Given the description of an element on the screen output the (x, y) to click on. 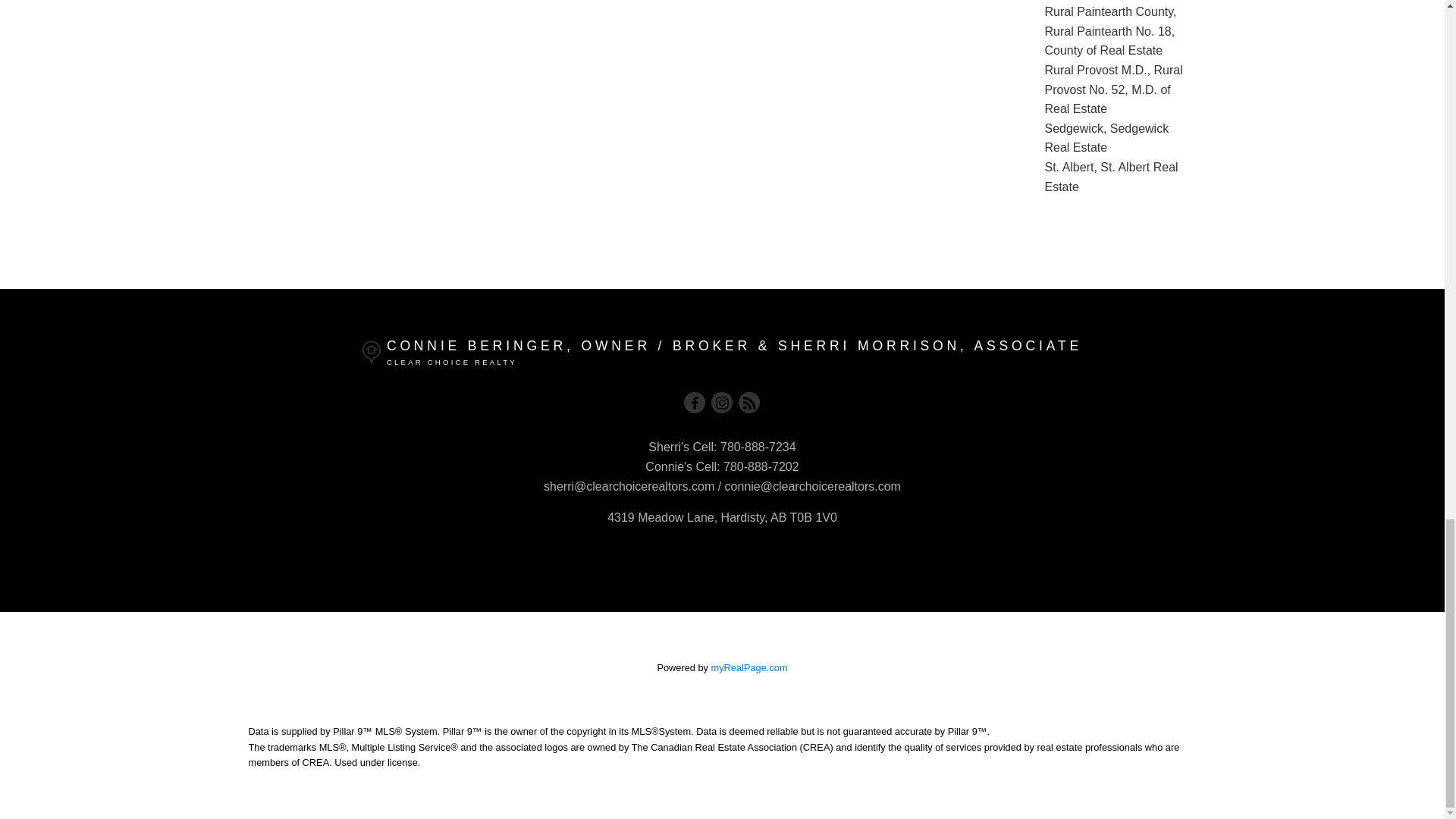
Blog (749, 402)
Facebook (694, 402)
instagram (721, 402)
